Given the description of an element on the screen output the (x, y) to click on. 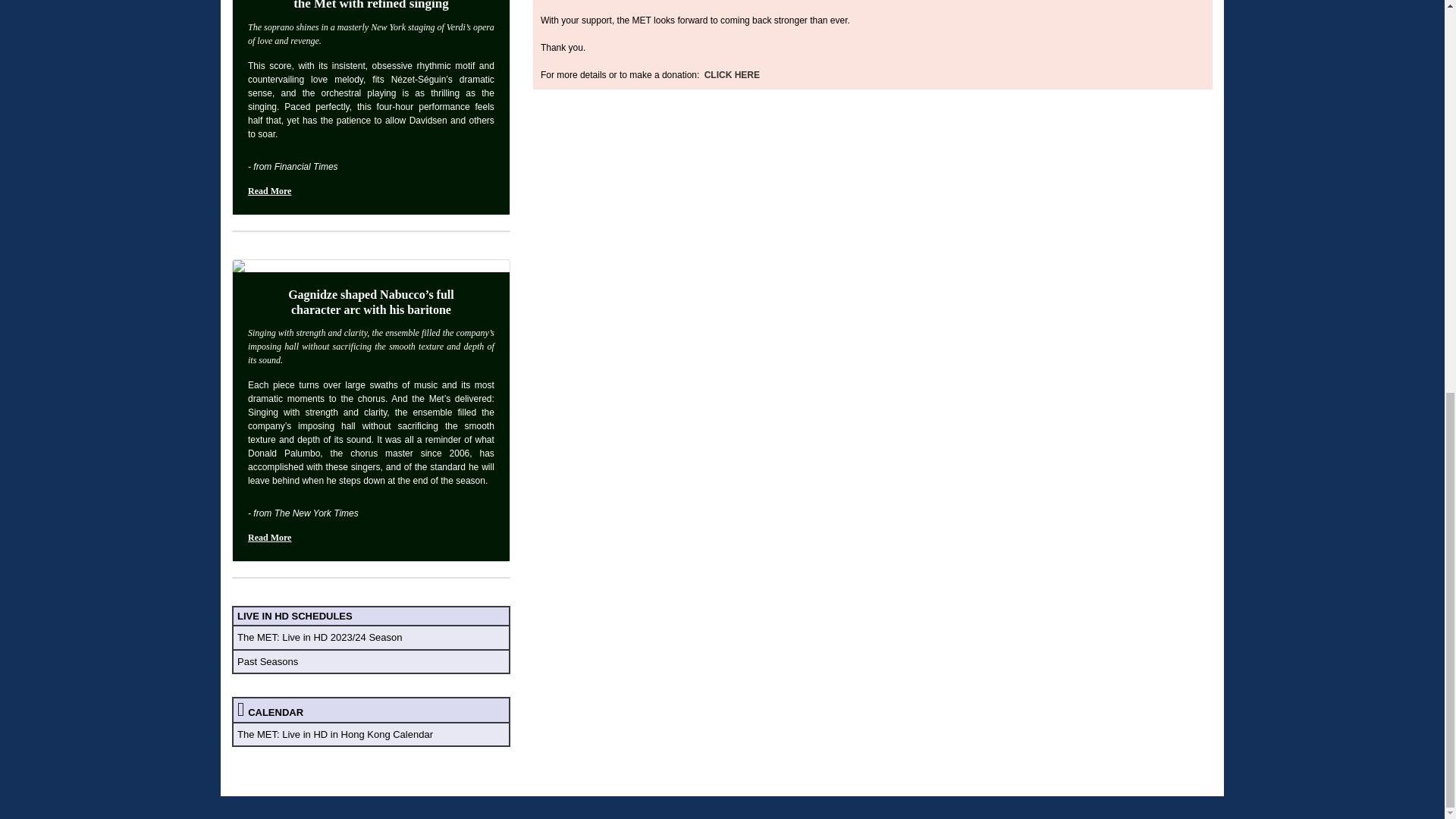
Read More (269, 190)
Past Seasons (267, 661)
The MET: Live in HD in Hong Kong Calendar (334, 734)
Read More (269, 537)
CLICK HERE (730, 74)
